Given the description of an element on the screen output the (x, y) to click on. 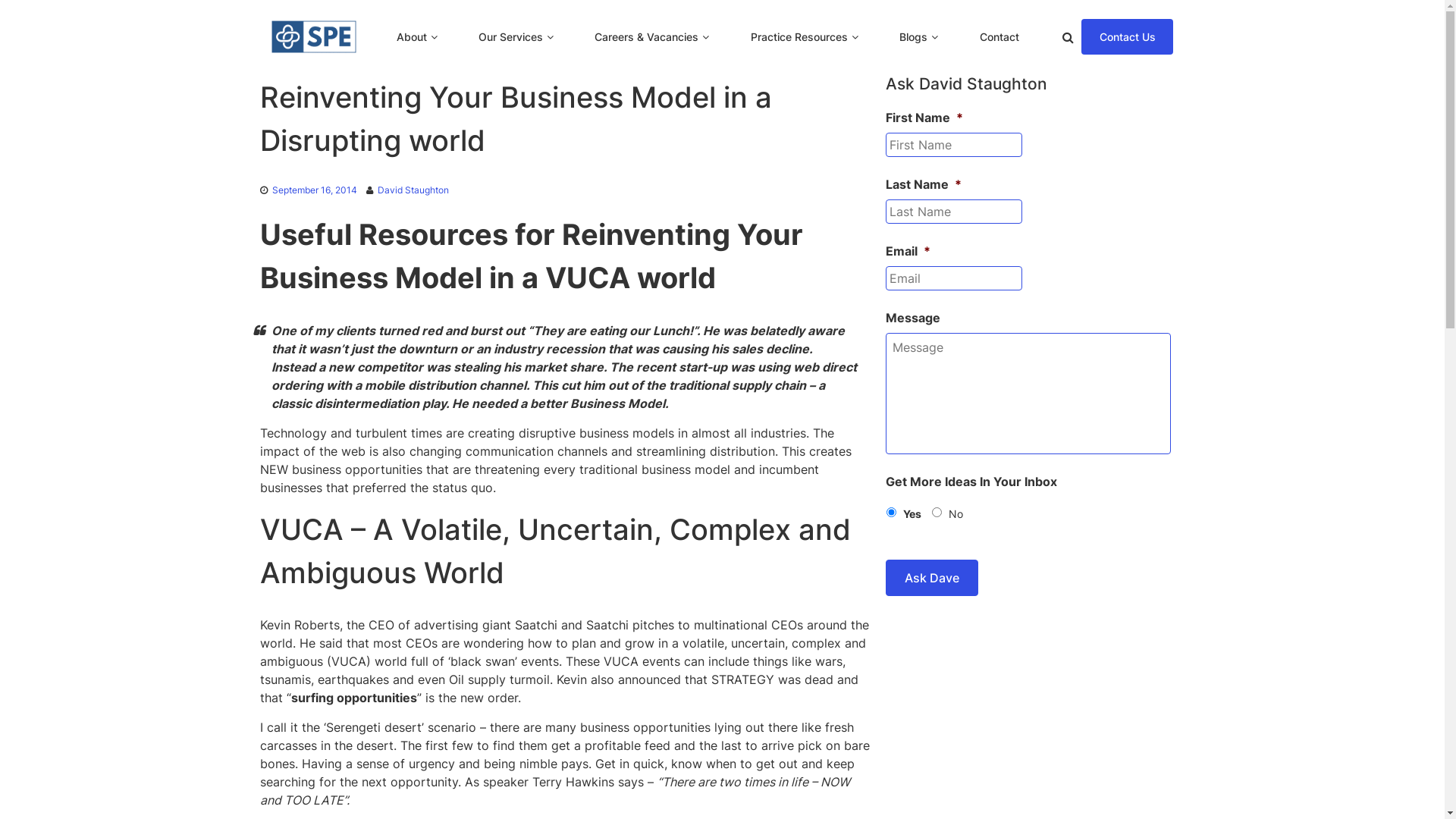
About Element type: text (411, 36)
Our Services Element type: text (510, 36)
David Staughton Element type: text (412, 189)
Contact Us Element type: text (1127, 36)
Blogs Element type: text (913, 36)
September 16, 2014 Element type: text (313, 189)
Careers & Vacancies Element type: text (646, 36)
Contact Element type: text (999, 36)
Practice Resources Element type: text (798, 36)
Ask Dave Element type: text (931, 577)
